Given the description of an element on the screen output the (x, y) to click on. 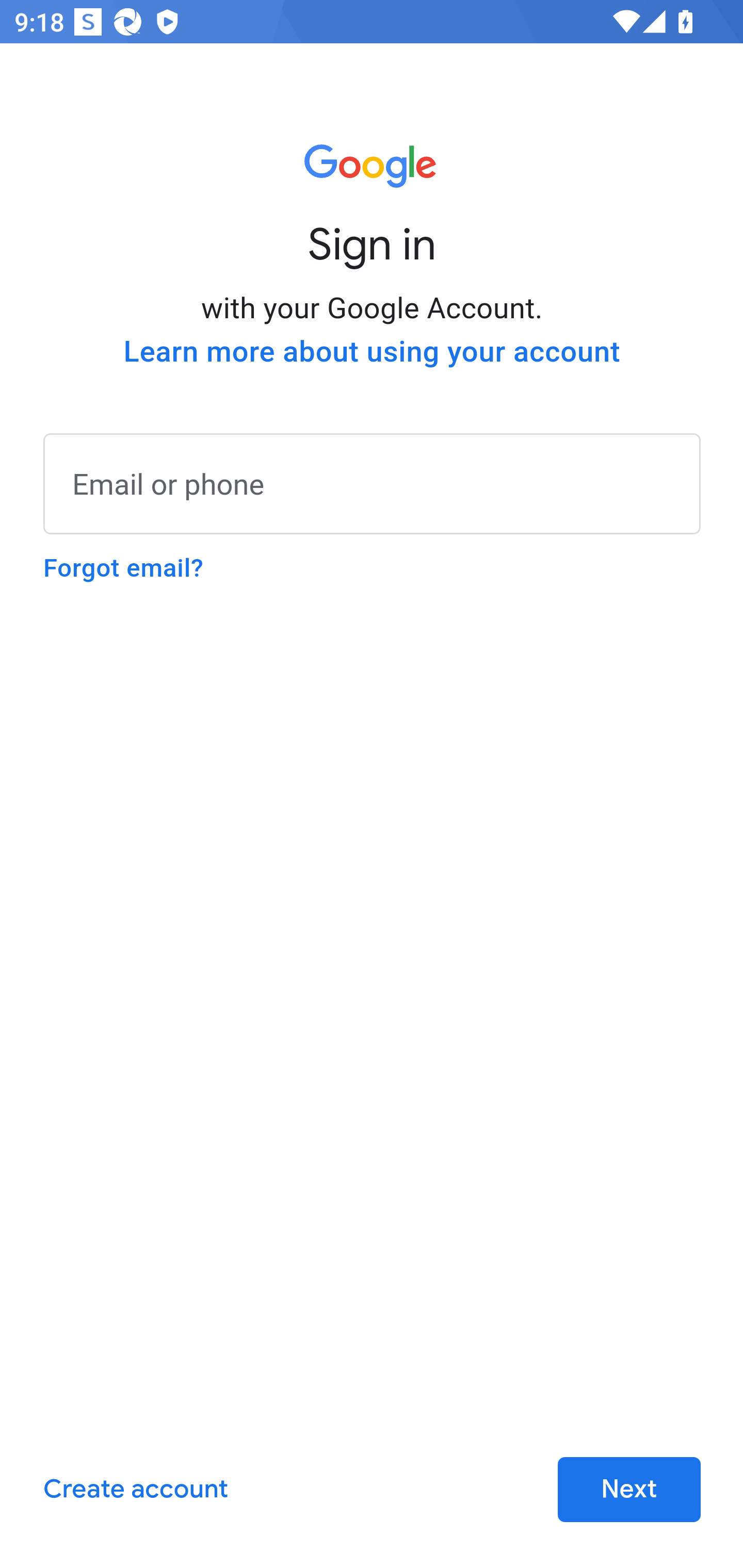
Learn more about using your account (371, 351)
Forgot email? (123, 568)
Create account (134, 1490)
Next (629, 1490)
